Given the description of an element on the screen output the (x, y) to click on. 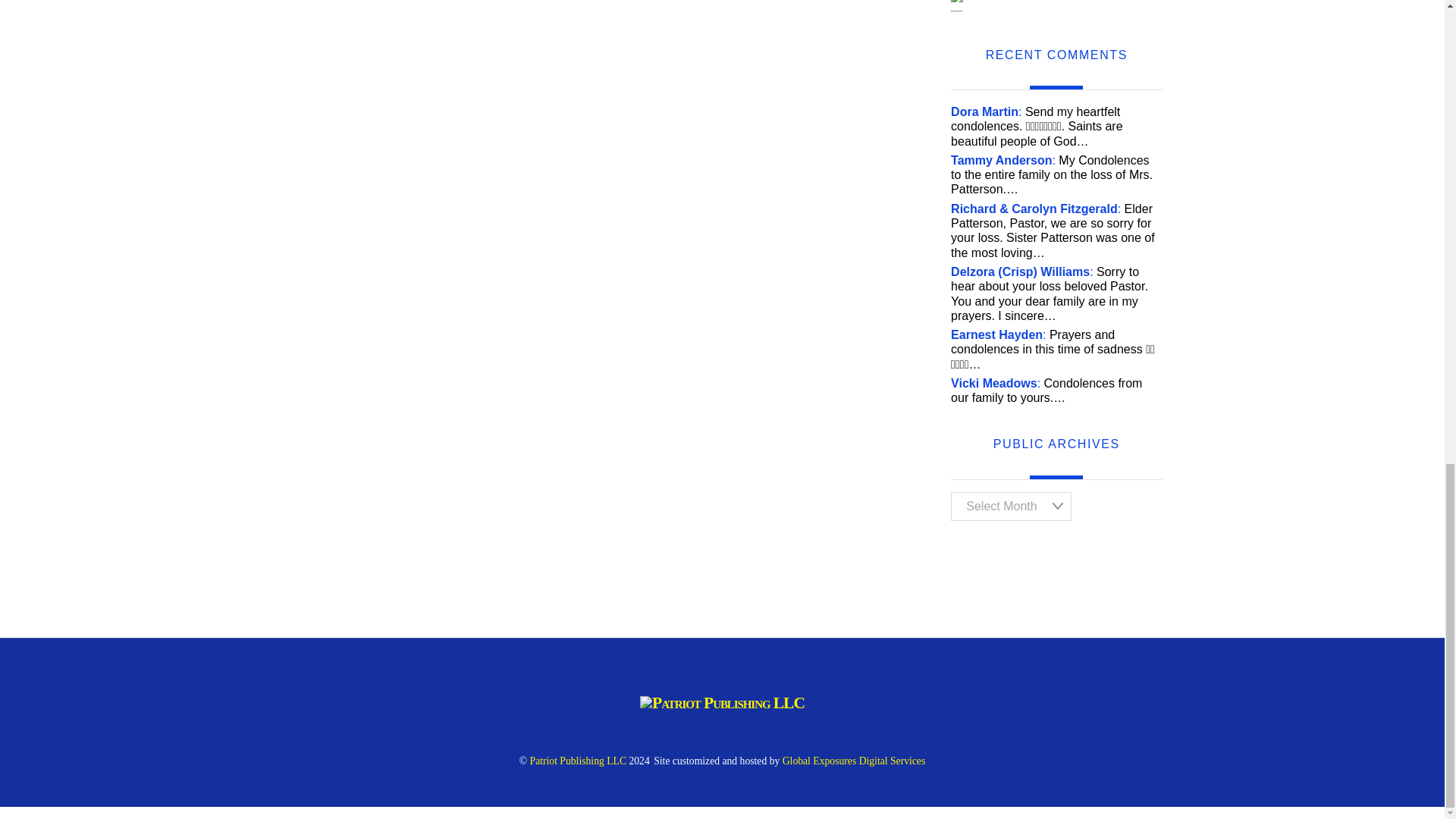
Vicki Meadows: (995, 382)
Global Exposures Digital Services (854, 760)
Patriot Publishing LLC (577, 760)
Tammy Anderson: (1002, 160)
Earnest Hayden: (997, 334)
Patriot Publishing LLC (722, 702)
Dora Martin: (986, 111)
